Given the description of an element on the screen output the (x, y) to click on. 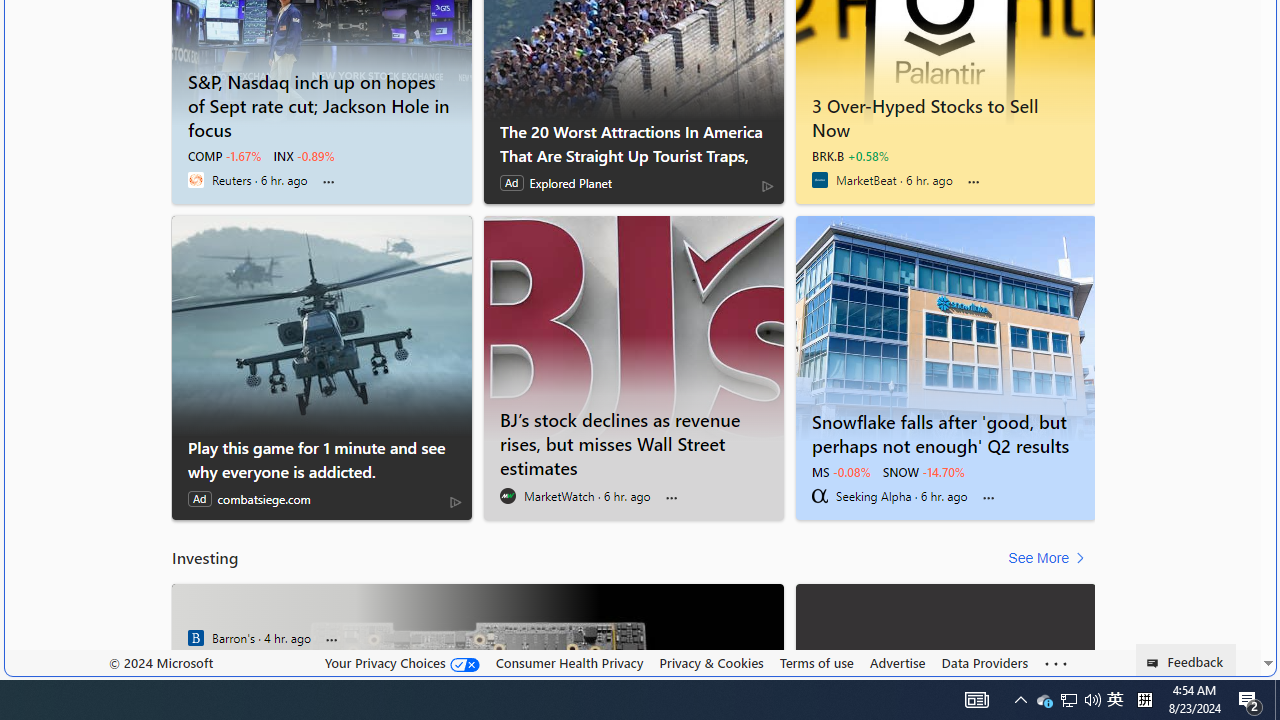
Reuters (195, 179)
Class: feedback_link_icon-DS-EntryPoint1-1 (1156, 663)
Your Privacy Choices (401, 663)
Data Providers (983, 662)
BRK.B +0.58% (850, 156)
Seeking Alpha (819, 495)
COMP -1.67% (225, 156)
